Given the description of an element on the screen output the (x, y) to click on. 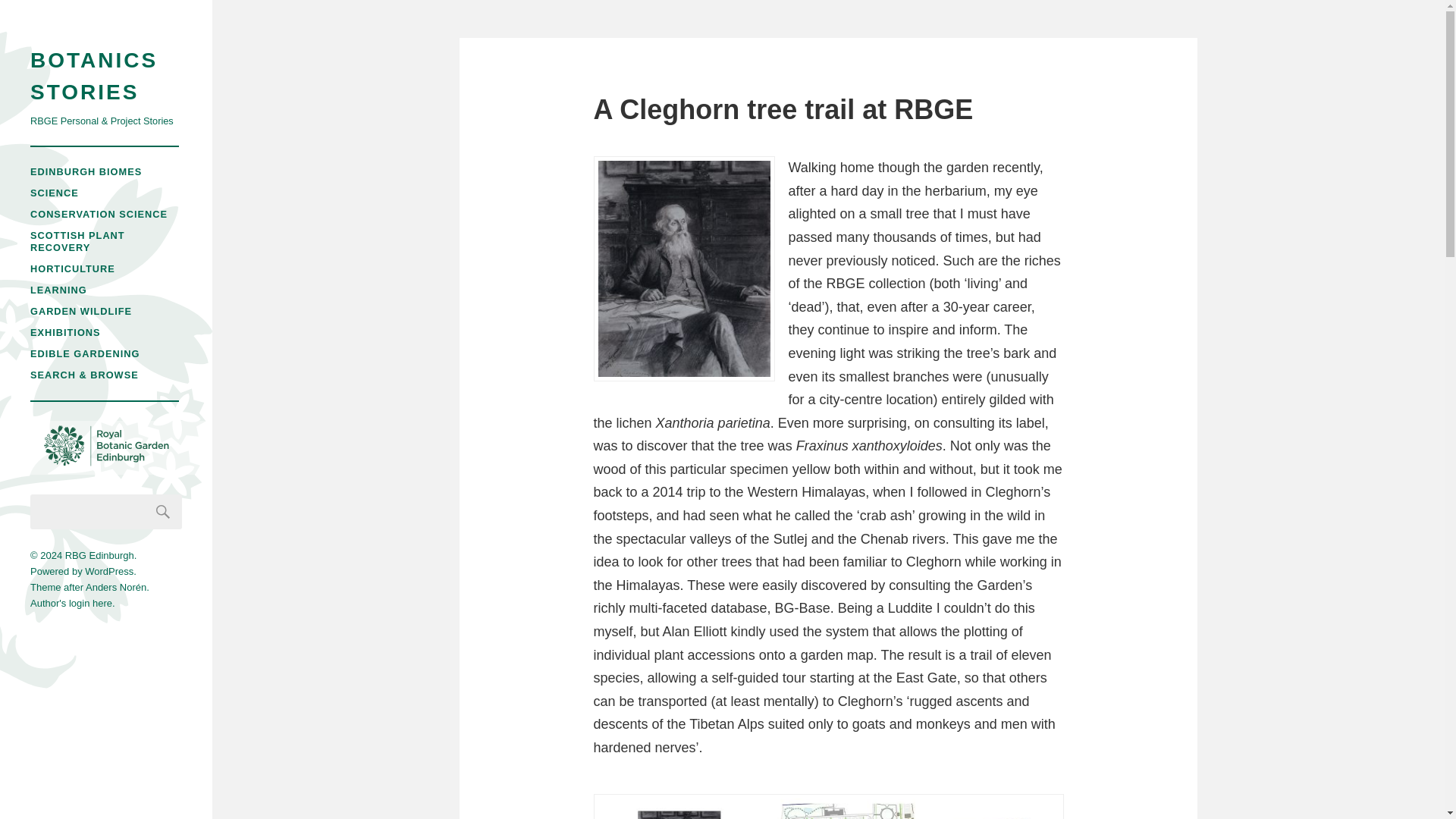
EDIBLE GARDENING (84, 353)
SCOTTISH PLANT RECOVERY (77, 241)
HORTICULTURE (72, 268)
Search (163, 511)
LEARNING (58, 289)
Search (163, 511)
BOTANICS STORIES (106, 76)
WordPress (108, 571)
RBG Edinburgh (99, 555)
CONSERVATION SCIENCE (98, 214)
